Given the description of an element on the screen output the (x, y) to click on. 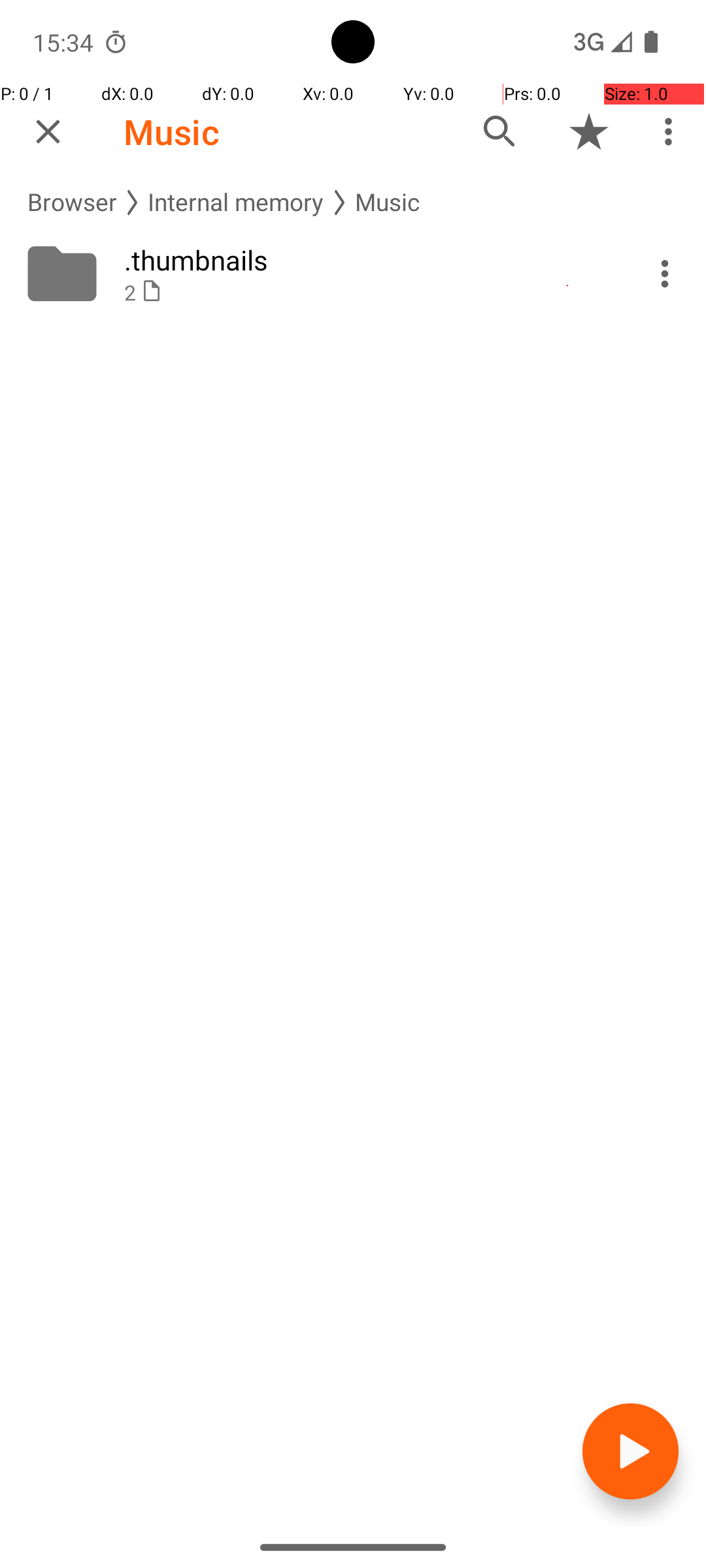
Folder: .thumbnails, 2 media files Element type: android.view.ViewGroup (353, 273)
.thumbnails Element type: android.widget.TextView (366, 259)
2 *§* Element type: android.widget.TextView (366, 292)
